Given the description of an element on the screen output the (x, y) to click on. 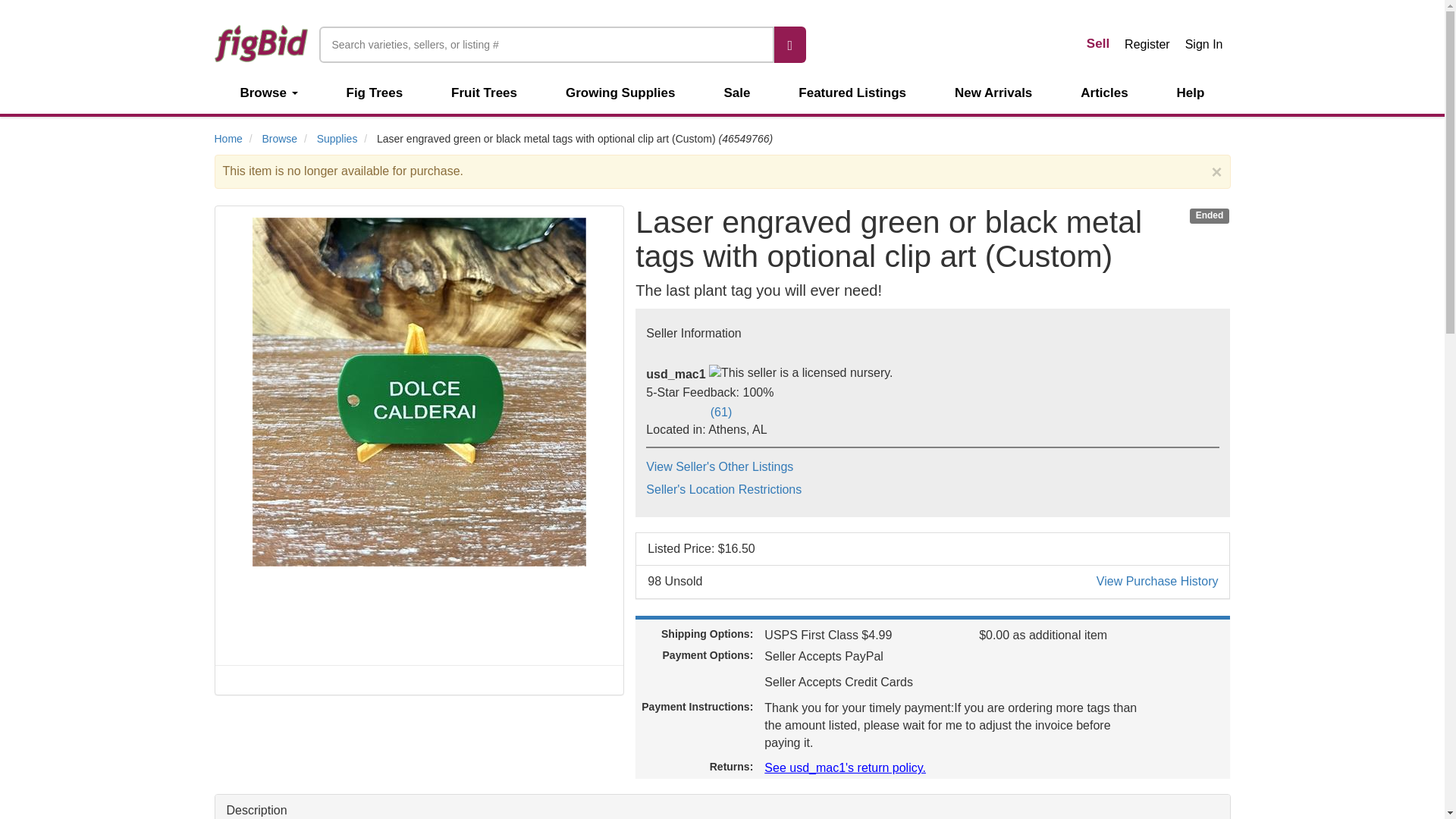
Fruit Trees (483, 93)
Browse (274, 93)
Growing Supplies (620, 93)
Sale (736, 93)
Articles (1103, 93)
This seller is a licensed nursery. (800, 373)
Sell (1097, 43)
New Arrivals (993, 93)
Featured Listings (852, 93)
Fig Trees (374, 93)
